Given the description of an element on the screen output the (x, y) to click on. 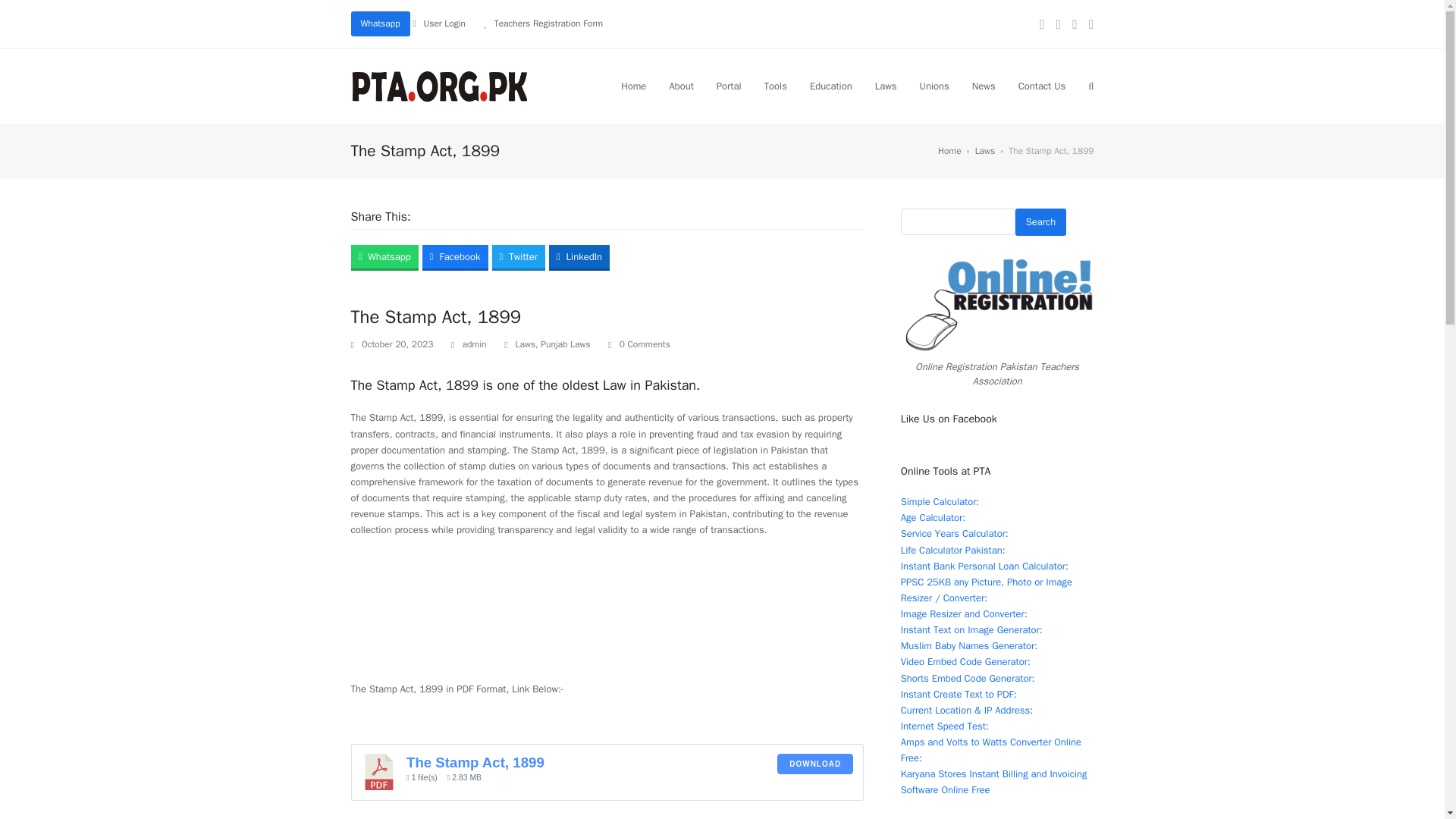
The Stamp Act, 1899 1 (379, 771)
0 Comments (638, 344)
User Login (444, 23)
Teachers Registration Form (548, 23)
Posts by admin (473, 344)
Whatsapp (379, 23)
